Given the description of an element on the screen output the (x, y) to click on. 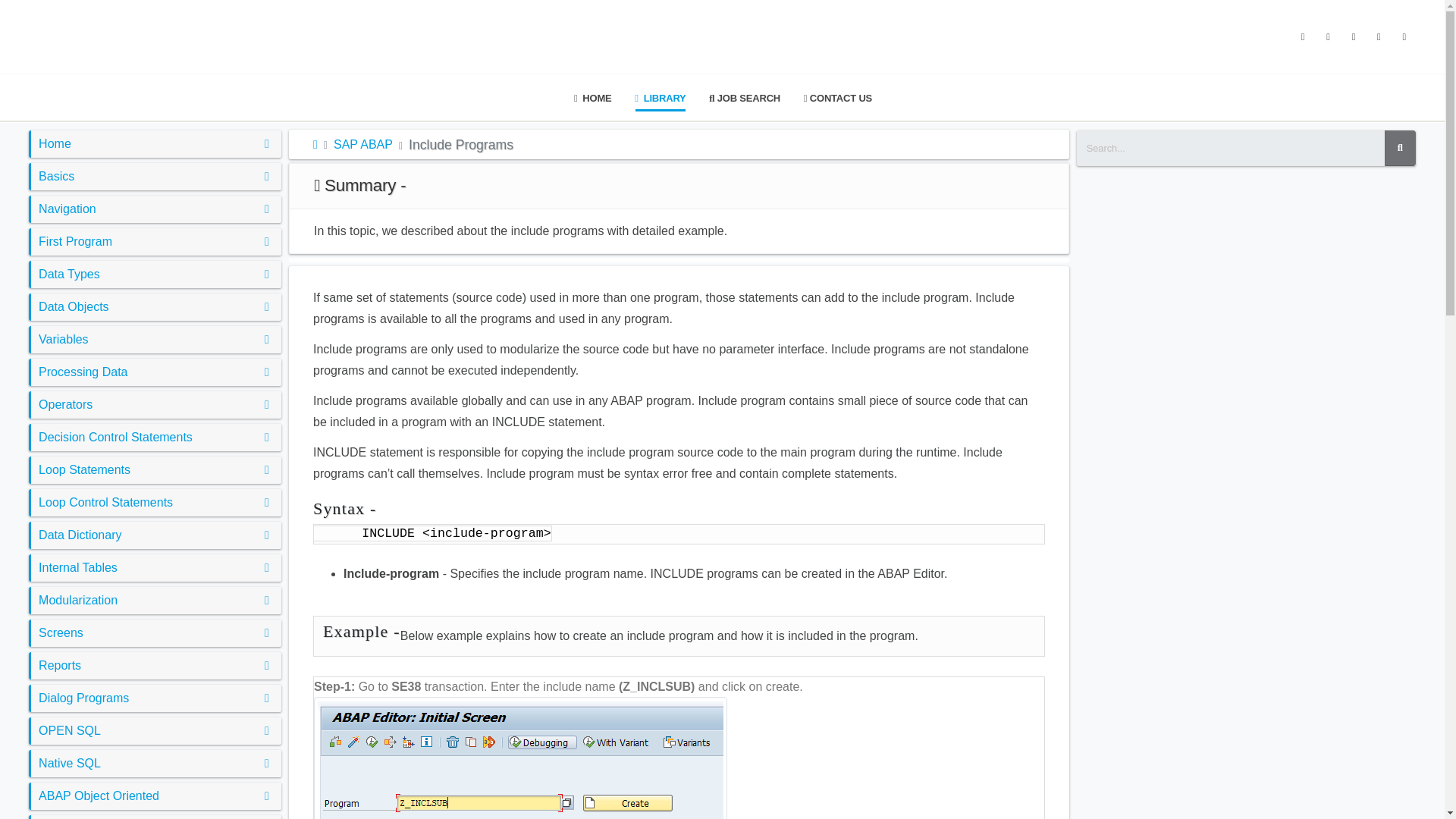
  HOME (593, 98)
Twitter (1328, 35)
 CONTACT US (837, 98)
Facebook (1302, 35)
  LIBRARY (660, 98)
 JOB SEARCH (744, 98)
Linkedin (1378, 35)
Linkedin (1404, 35)
Instagram (1353, 35)
